Given the description of an element on the screen output the (x, y) to click on. 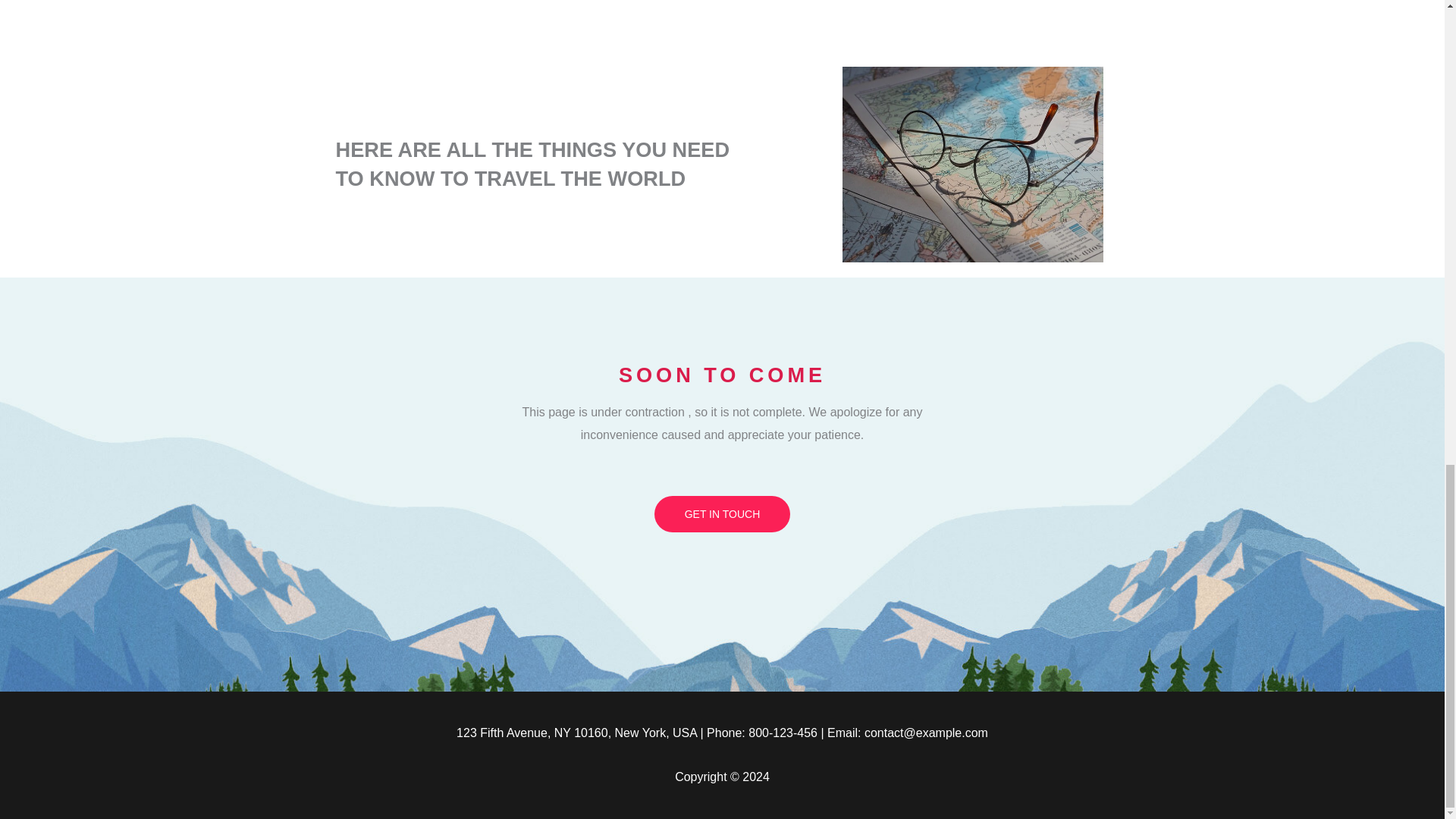
GET IN TOUCH (721, 514)
